Given the description of an element on the screen output the (x, y) to click on. 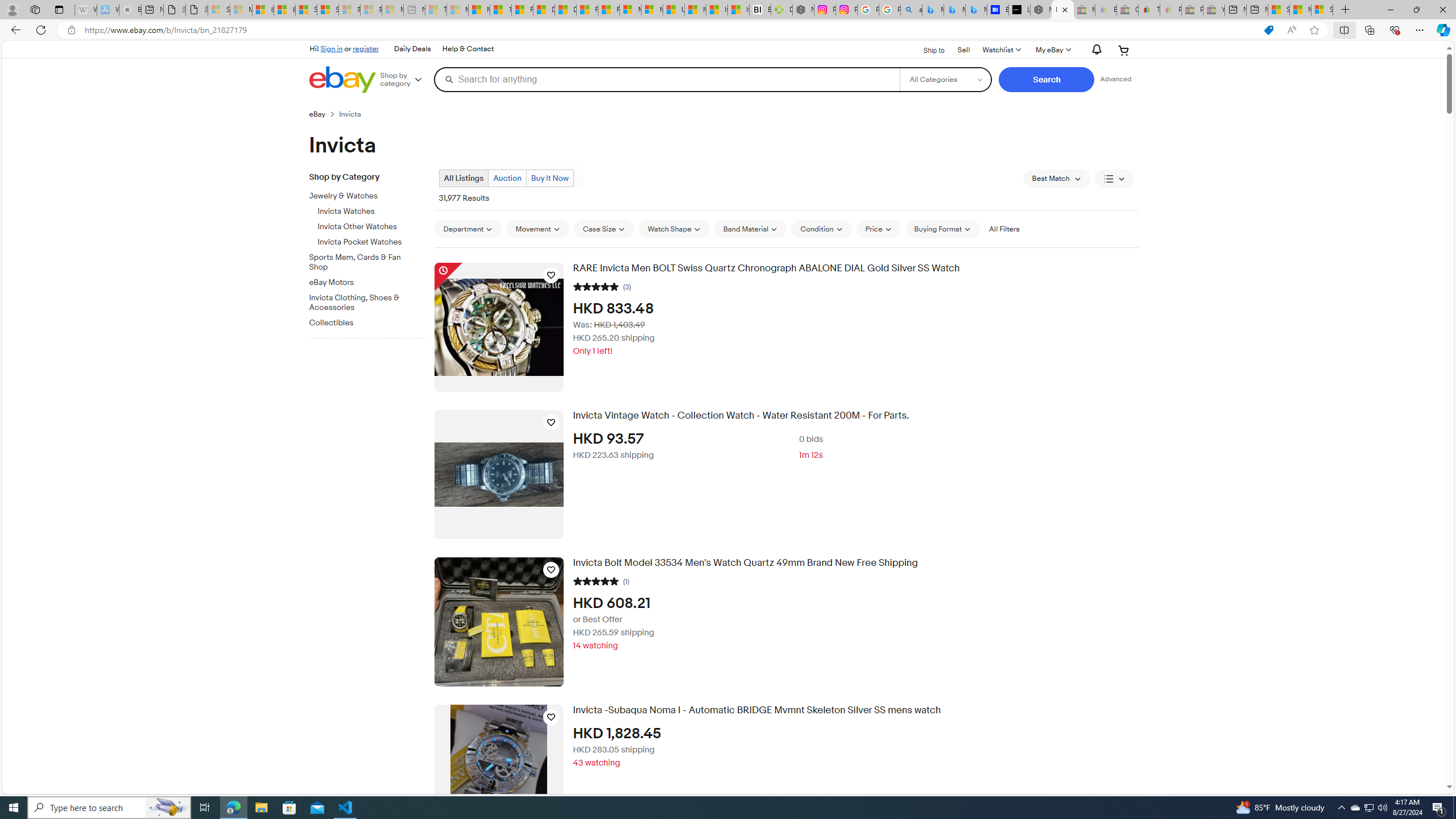
All Filters (1004, 229)
This site has coupons! Shopping in Microsoft Edge (1268, 29)
5 out of 5 stars (595, 580)
Shop by category (405, 79)
Buy It Now (549, 177)
Microsoft Bing Travel - Shangri-La Hotel Bangkok (975, 9)
Department (467, 229)
